Given the description of an element on the screen output the (x, y) to click on. 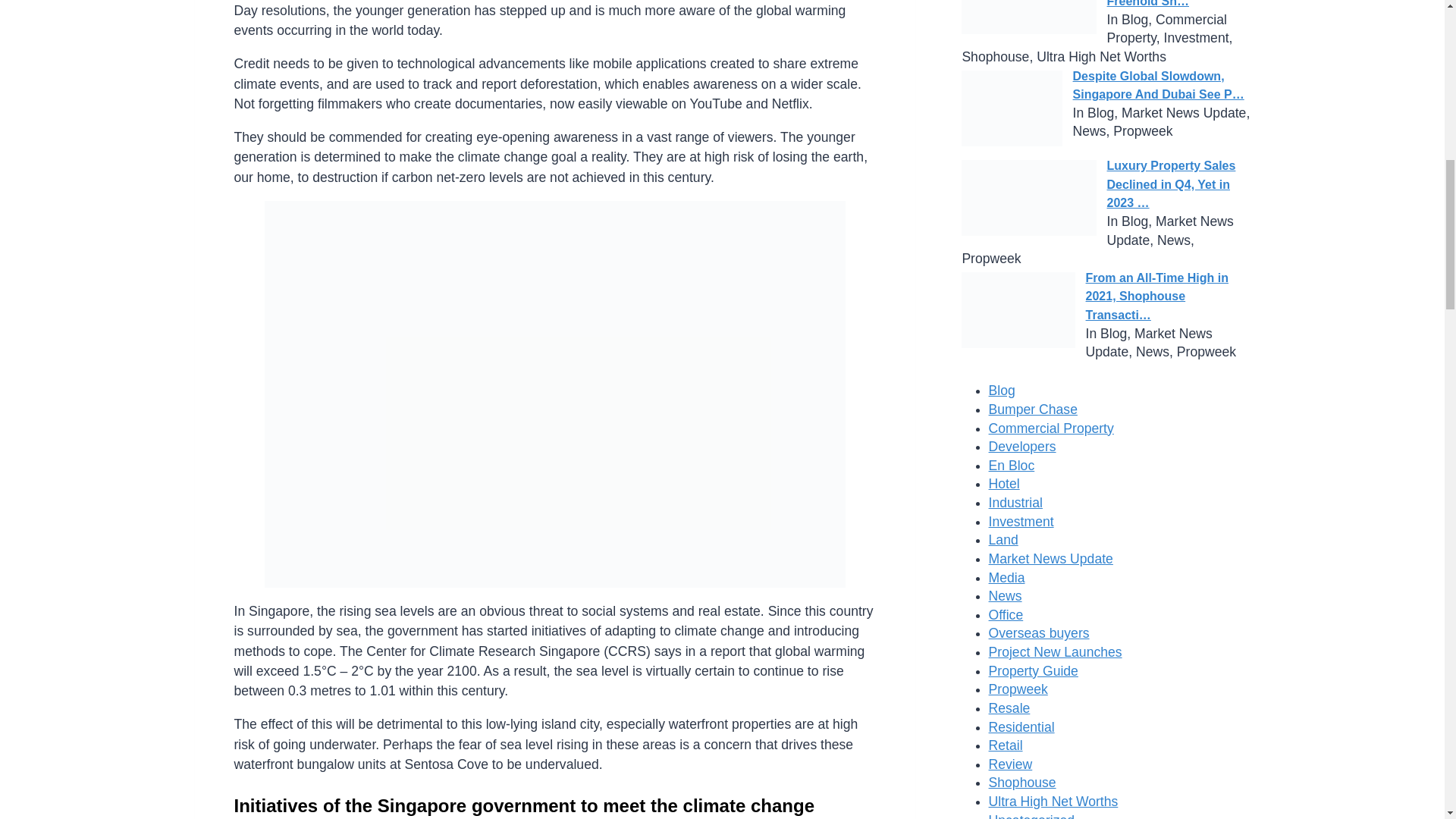
Blog (1001, 390)
Commercial Property (1050, 427)
Bumper Chase (1032, 409)
